Given the description of an element on the screen output the (x, y) to click on. 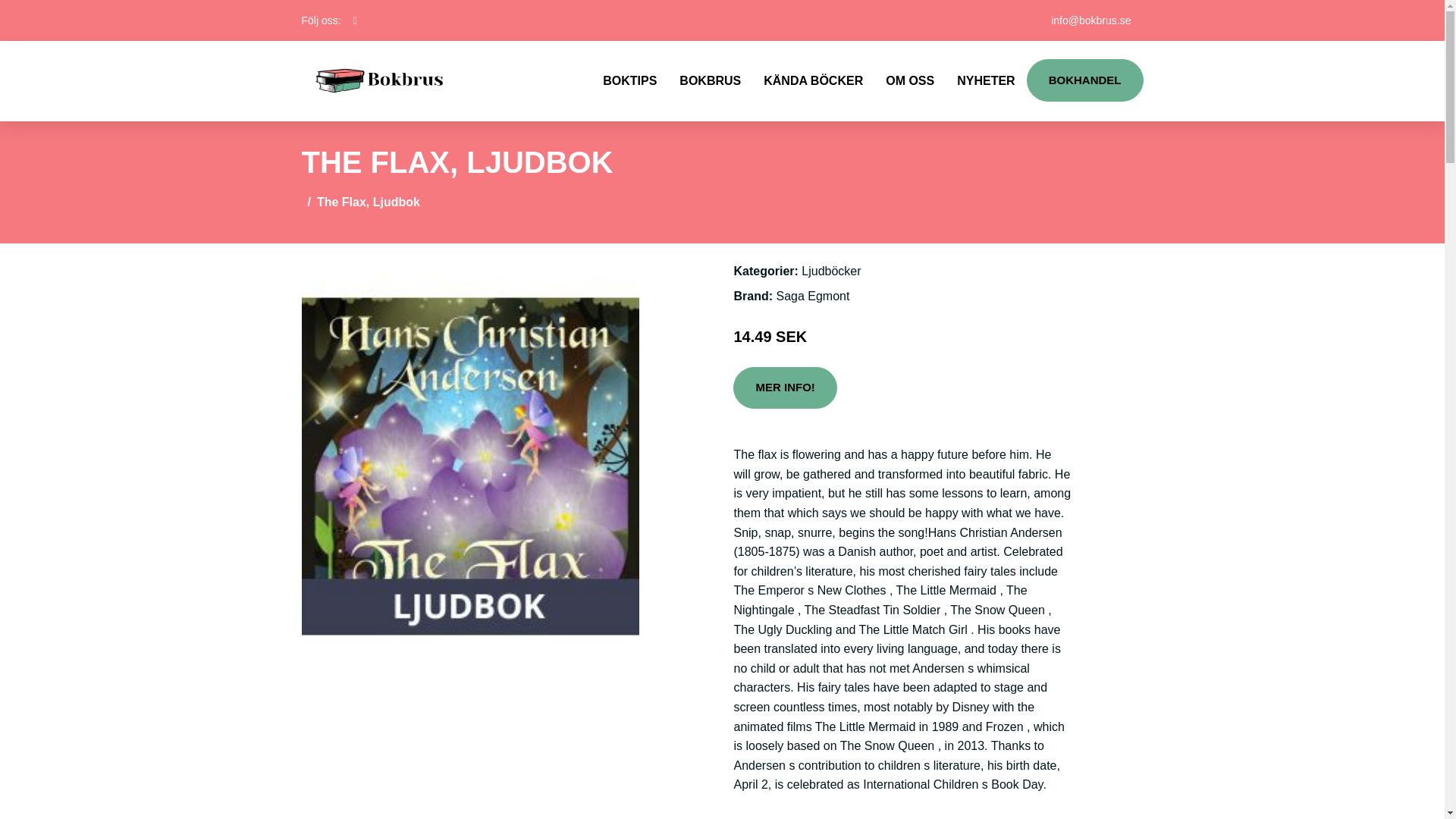
NYHETER (985, 80)
MER INFO! (784, 387)
BOKTIPS (629, 80)
OM OSS (909, 80)
BOKHANDEL (1084, 79)
BOKBRUS (710, 80)
